Given the description of an element on the screen output the (x, y) to click on. 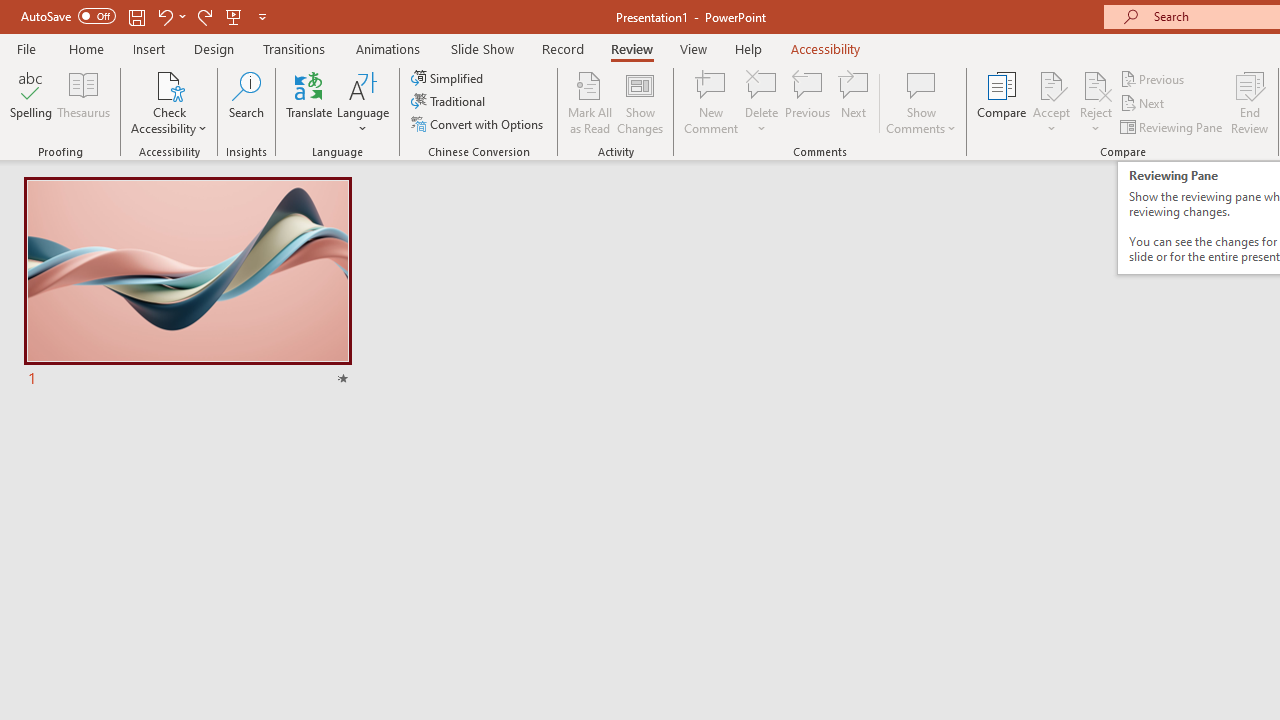
Simplified (449, 78)
Reject Change (1096, 84)
Thesaurus... (83, 102)
